Given the description of an element on the screen output the (x, y) to click on. 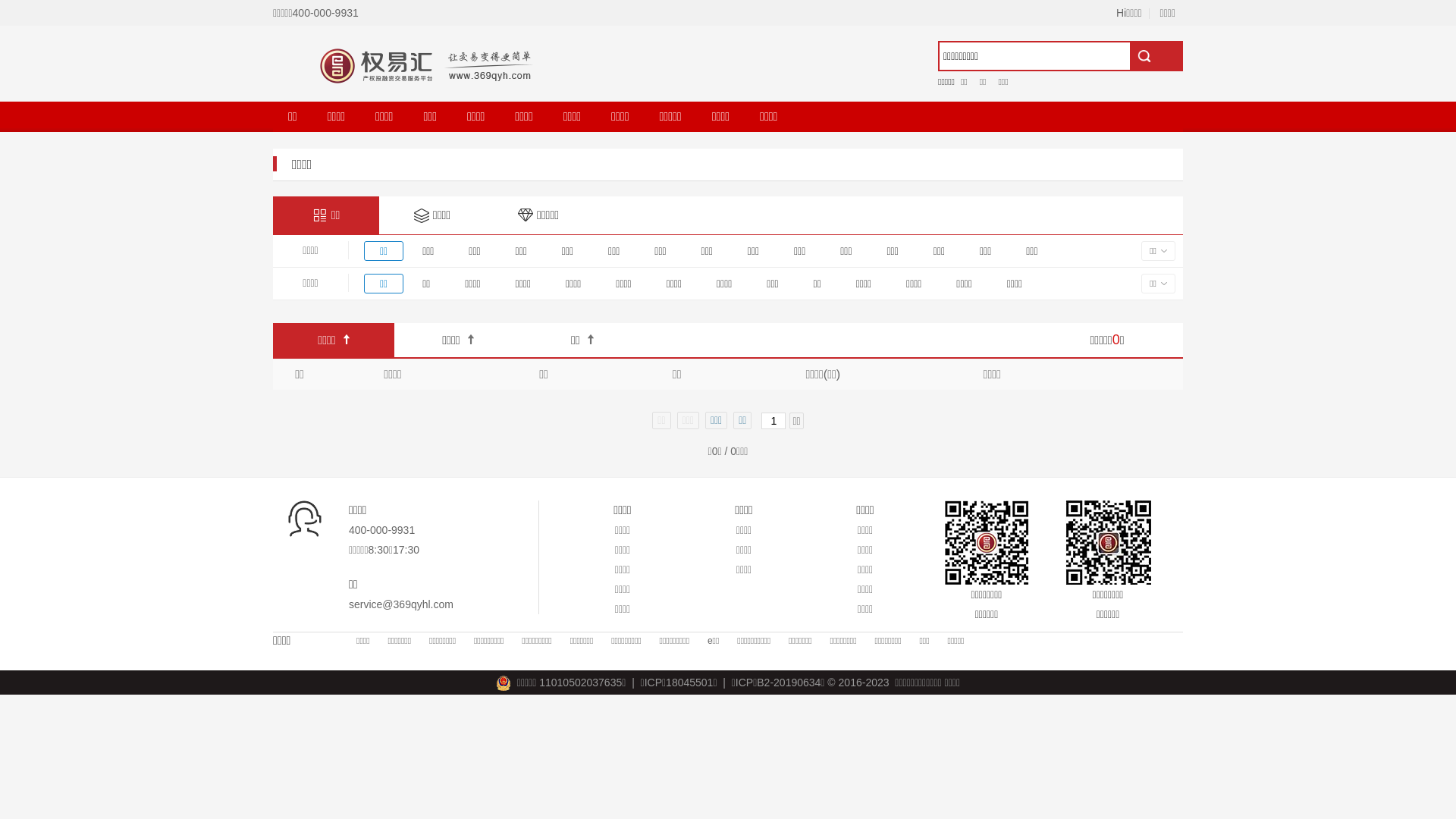
  Element type: text (1156, 55)
